Given the description of an element on the screen output the (x, y) to click on. 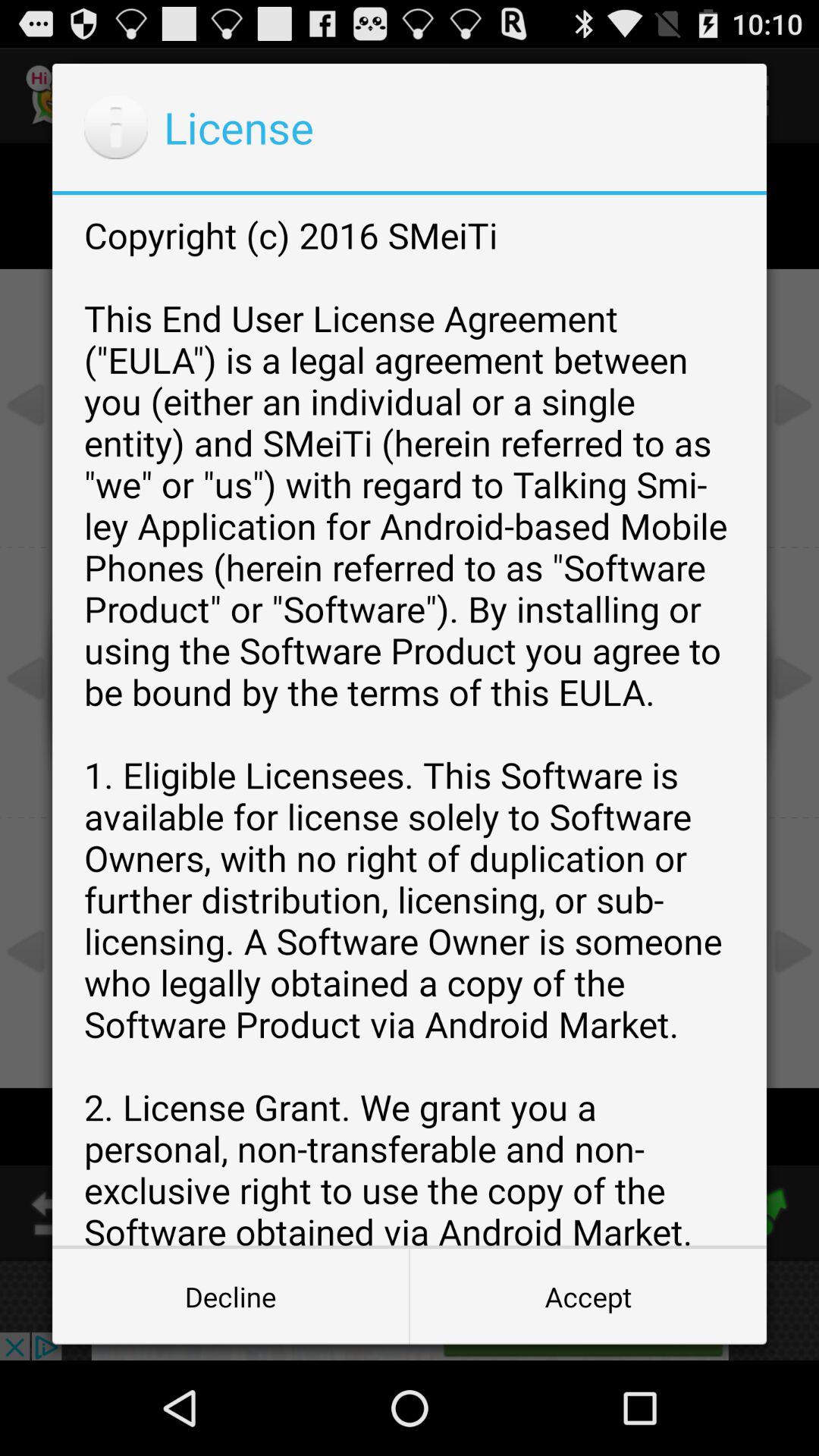
jump until the decline icon (230, 1296)
